Given the description of an element on the screen output the (x, y) to click on. 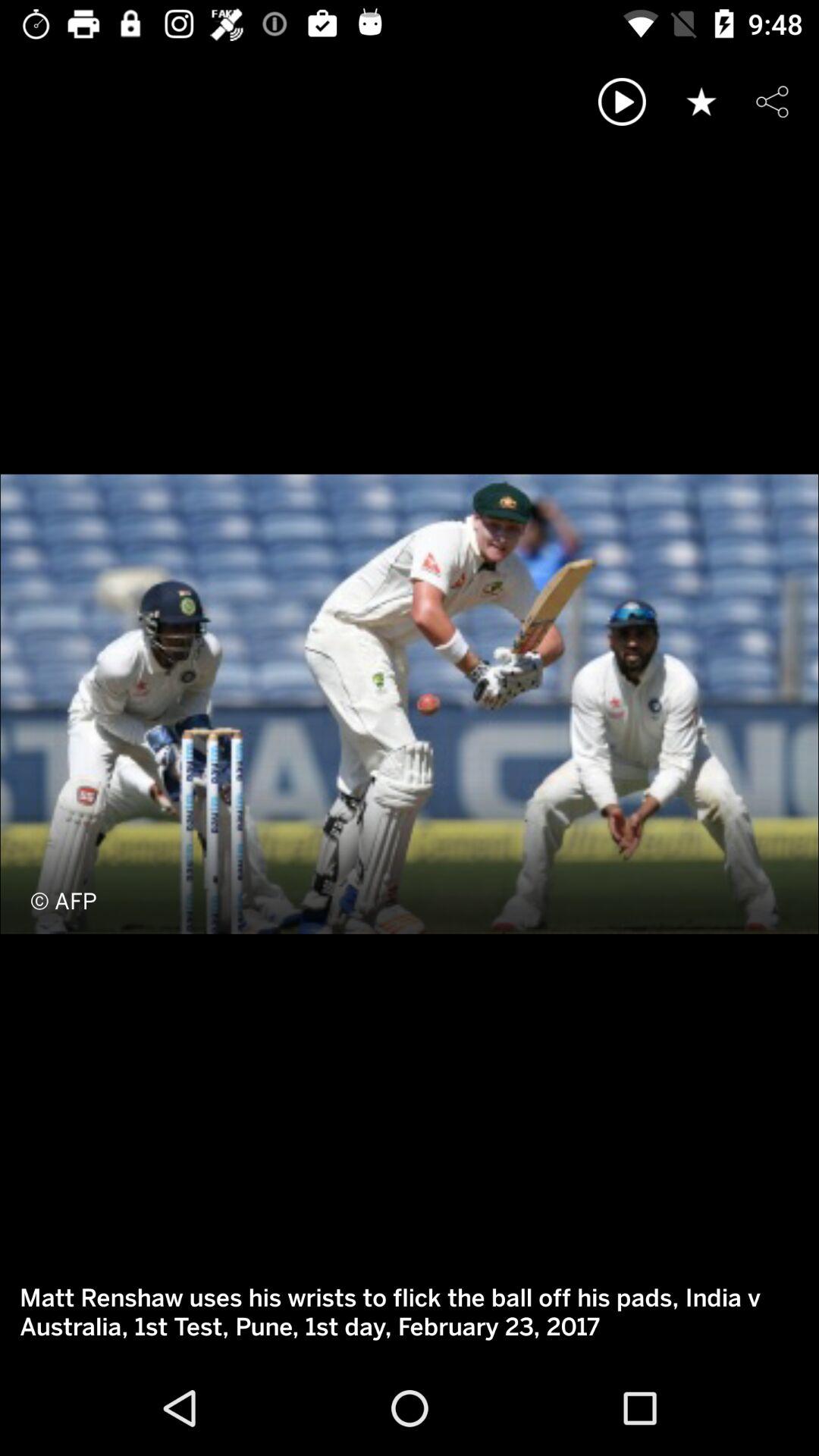
favorite (701, 101)
